Given the description of an element on the screen output the (x, y) to click on. 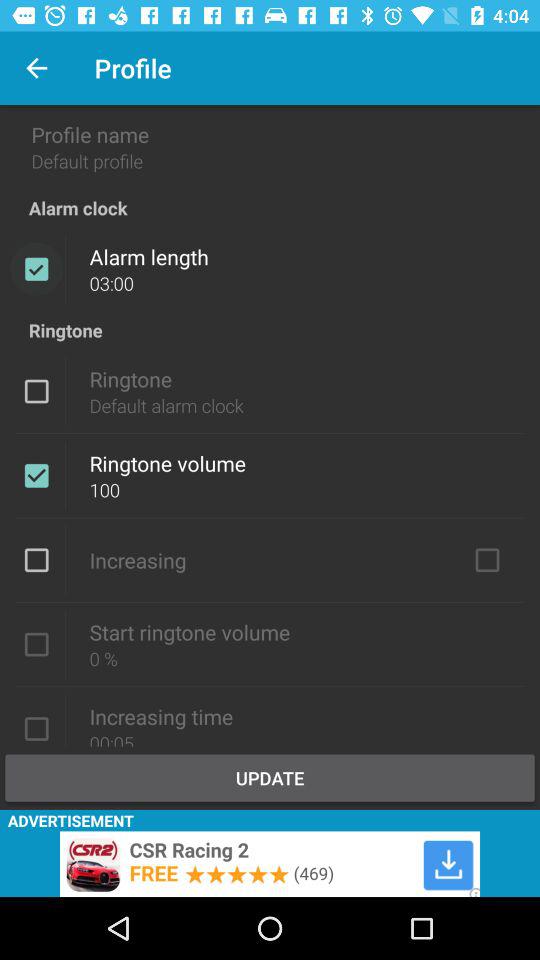
select the add image (270, 864)
